Given the description of an element on the screen output the (x, y) to click on. 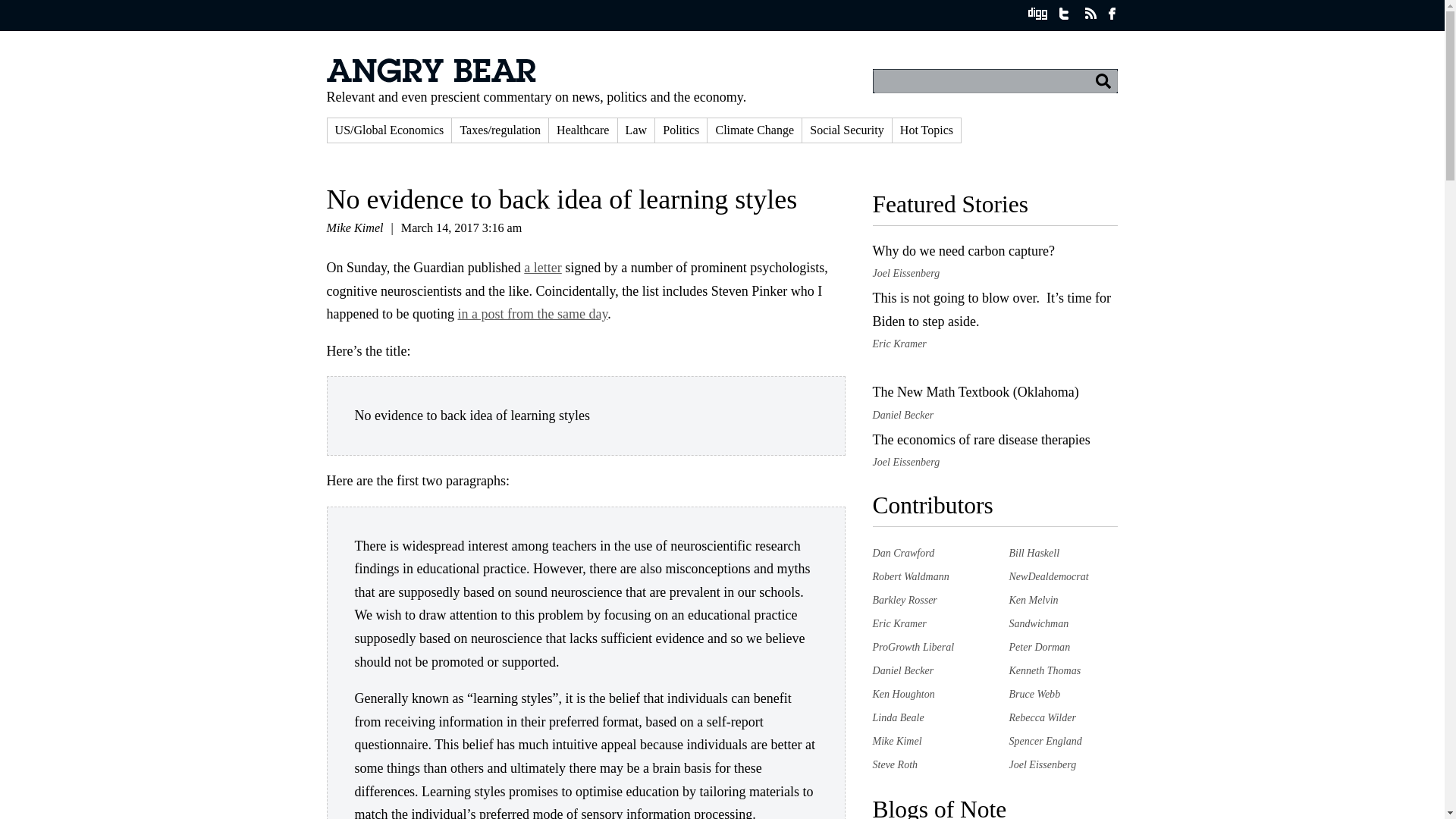
The economics of rare disease therapies (980, 439)
Barkley Rosser (904, 599)
ProGrowth Liberal (912, 646)
Climate Change (754, 129)
a letter (542, 267)
Daniel Becker (902, 670)
Eric Kramer (899, 623)
in a post from the same day (532, 313)
Healthcare (582, 129)
Politics (680, 129)
